Given the description of an element on the screen output the (x, y) to click on. 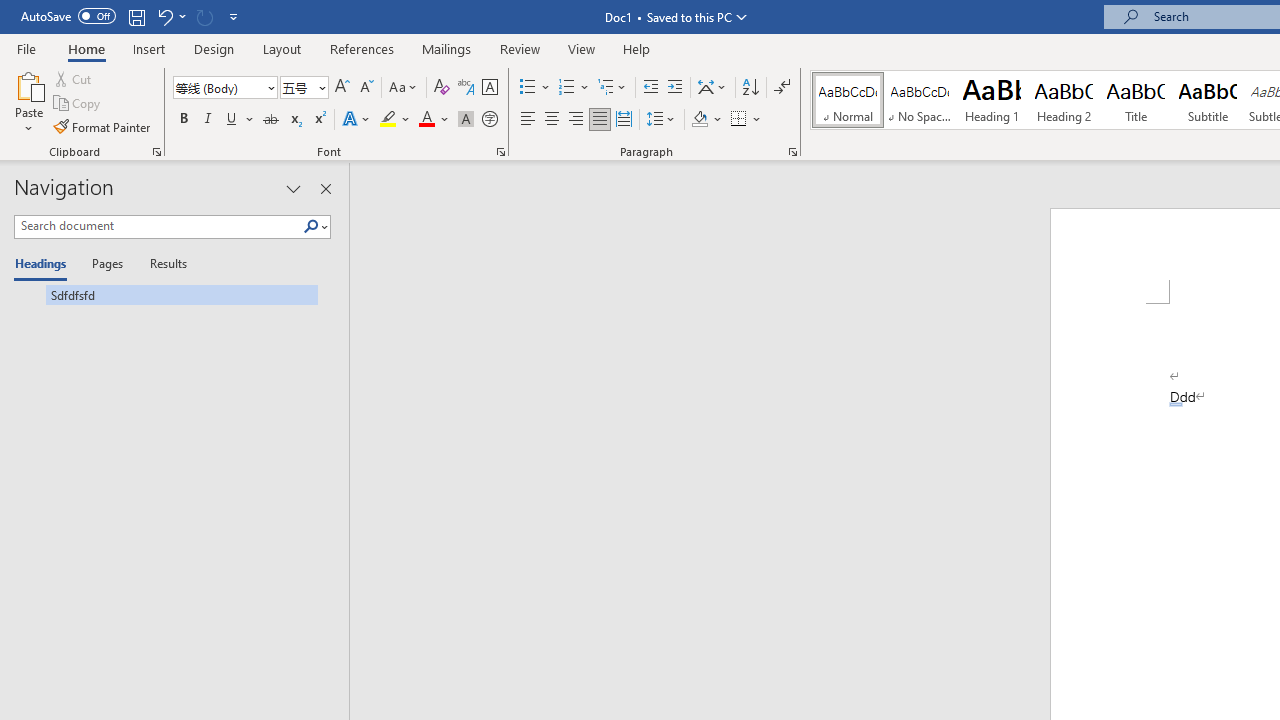
Distributed (623, 119)
Subtitle (1208, 100)
Home (86, 48)
Class: NetUIImage (311, 226)
Font Size (297, 87)
Copy (78, 103)
File Tab (26, 48)
Numbering (573, 87)
Insert (149, 48)
Change Case (404, 87)
Show/Hide Editing Marks (781, 87)
Enclose Characters... (489, 119)
AutoSave (68, 16)
Task Pane Options (293, 188)
Asian Layout (712, 87)
